Given the description of an element on the screen output the (x, y) to click on. 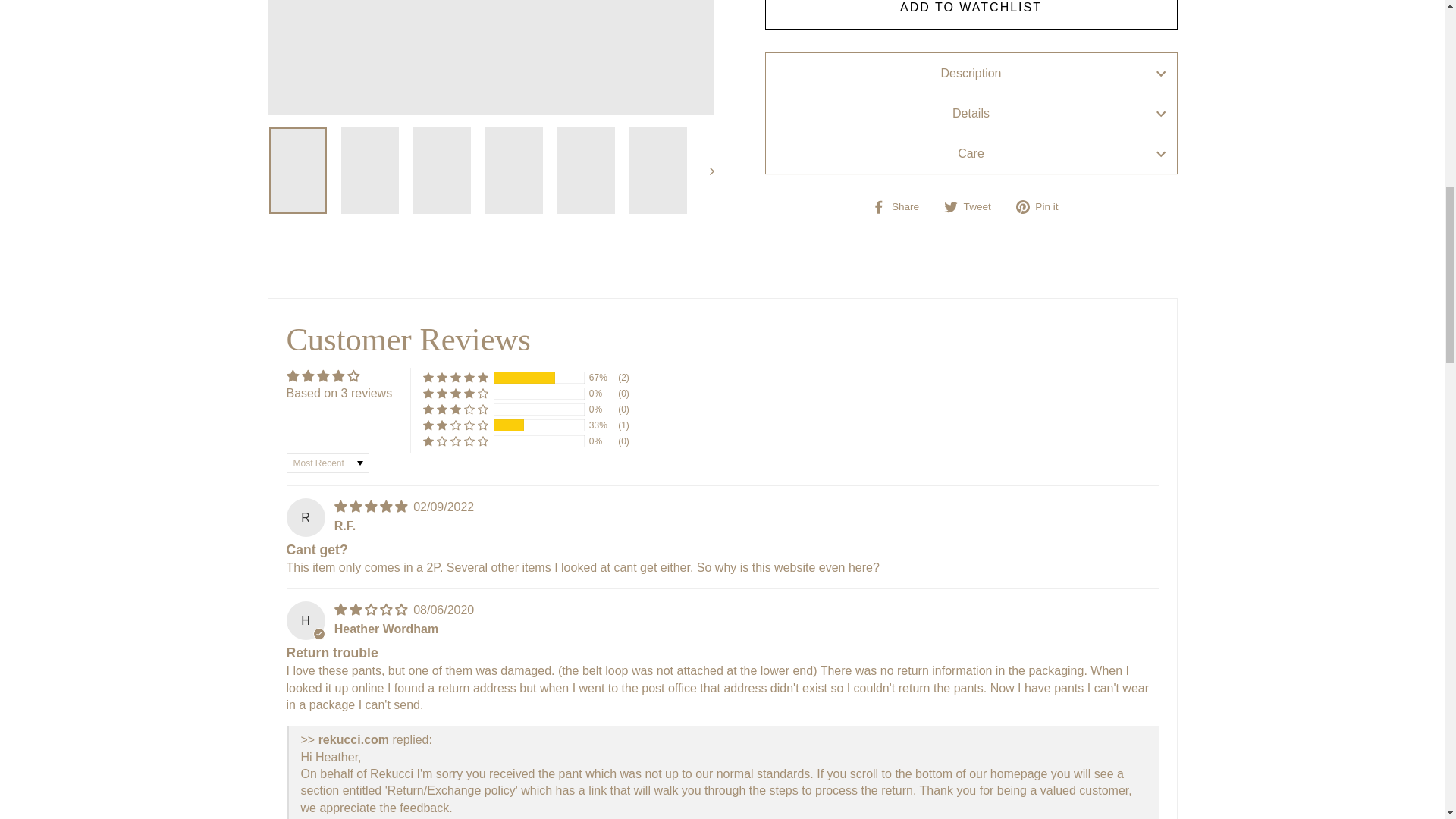
Share on Facebook (901, 207)
Pin on Pinterest (1043, 207)
Tweet on Twitter (973, 207)
